Given the description of an element on the screen output the (x, y) to click on. 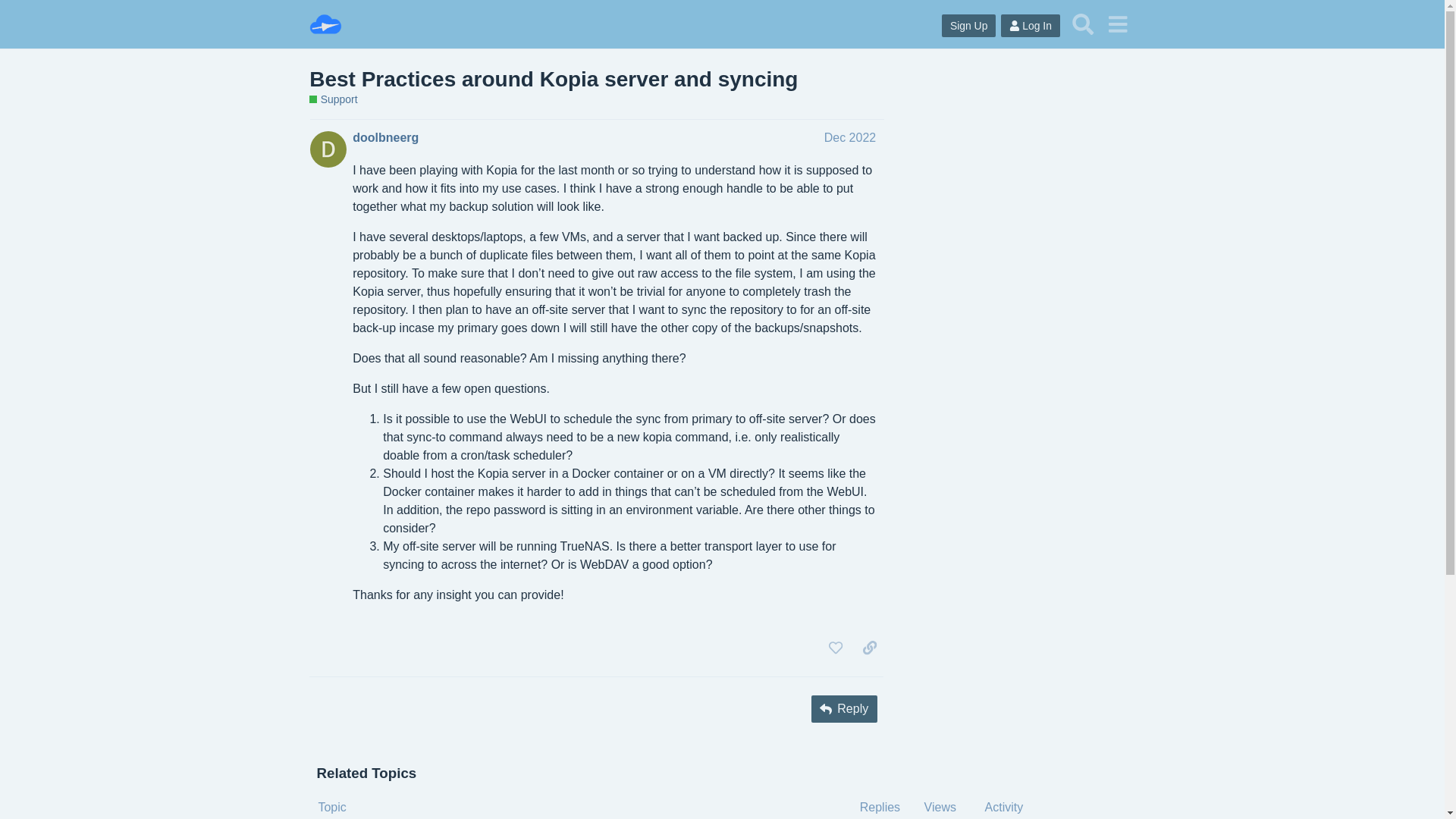
Dec 2022 (850, 137)
Sign Up (968, 25)
Log In (1030, 25)
doolbneerg (385, 137)
menu (1117, 23)
Best Practices around Kopia server and syncing (552, 78)
Support (332, 99)
Post date (850, 137)
Reply (843, 708)
like this post (835, 647)
copy a link to this post to clipboard (869, 647)
Search (1082, 23)
